Given the description of an element on the screen output the (x, y) to click on. 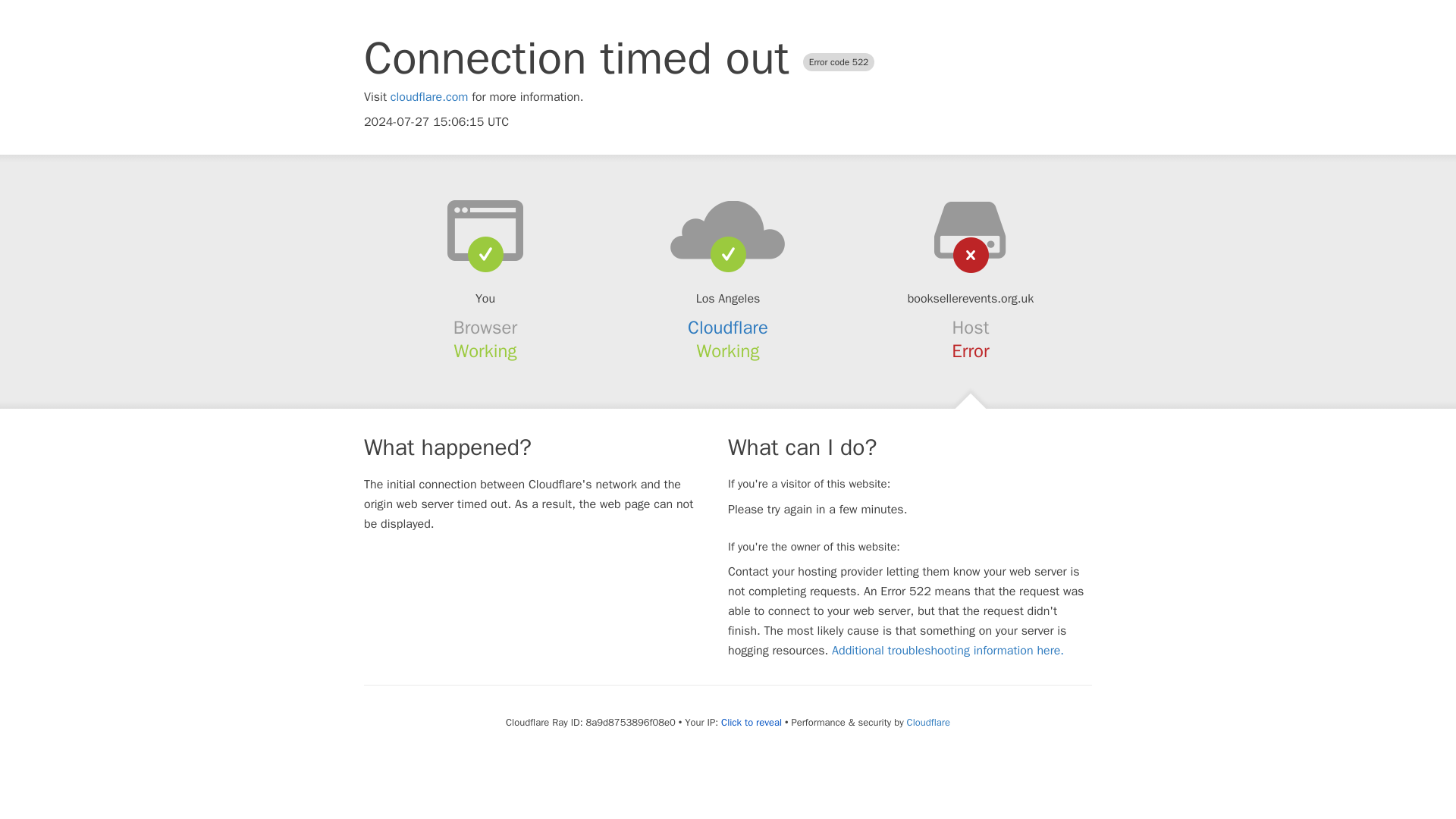
cloudflare.com (429, 96)
Click to reveal (750, 722)
Cloudflare (928, 721)
Additional troubleshooting information here. (947, 650)
Cloudflare (727, 327)
